Given the description of an element on the screen output the (x, y) to click on. 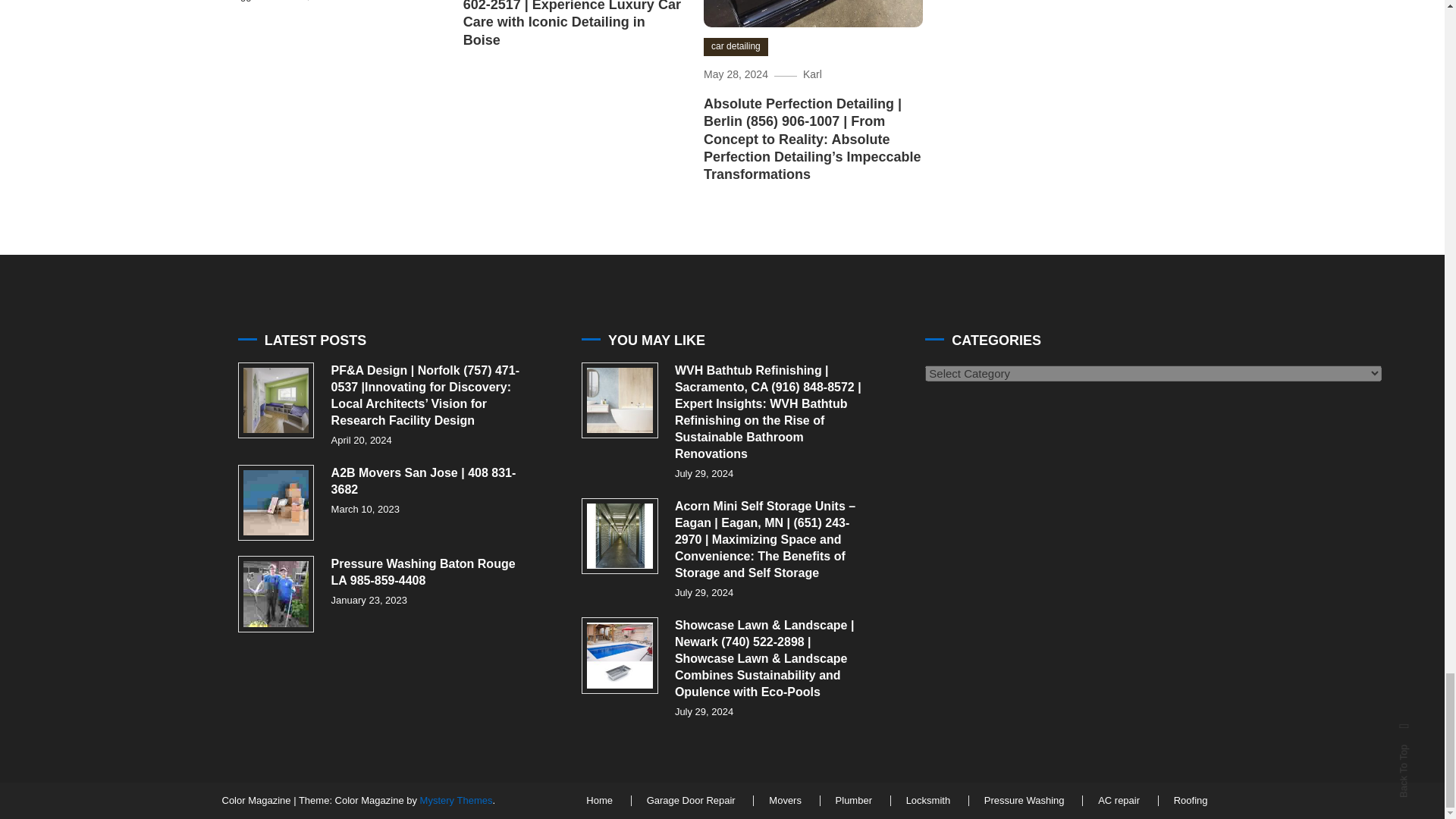
Pressure Washing Baton Rouge LA 985-859-4408 (276, 594)
